Given the description of an element on the screen output the (x, y) to click on. 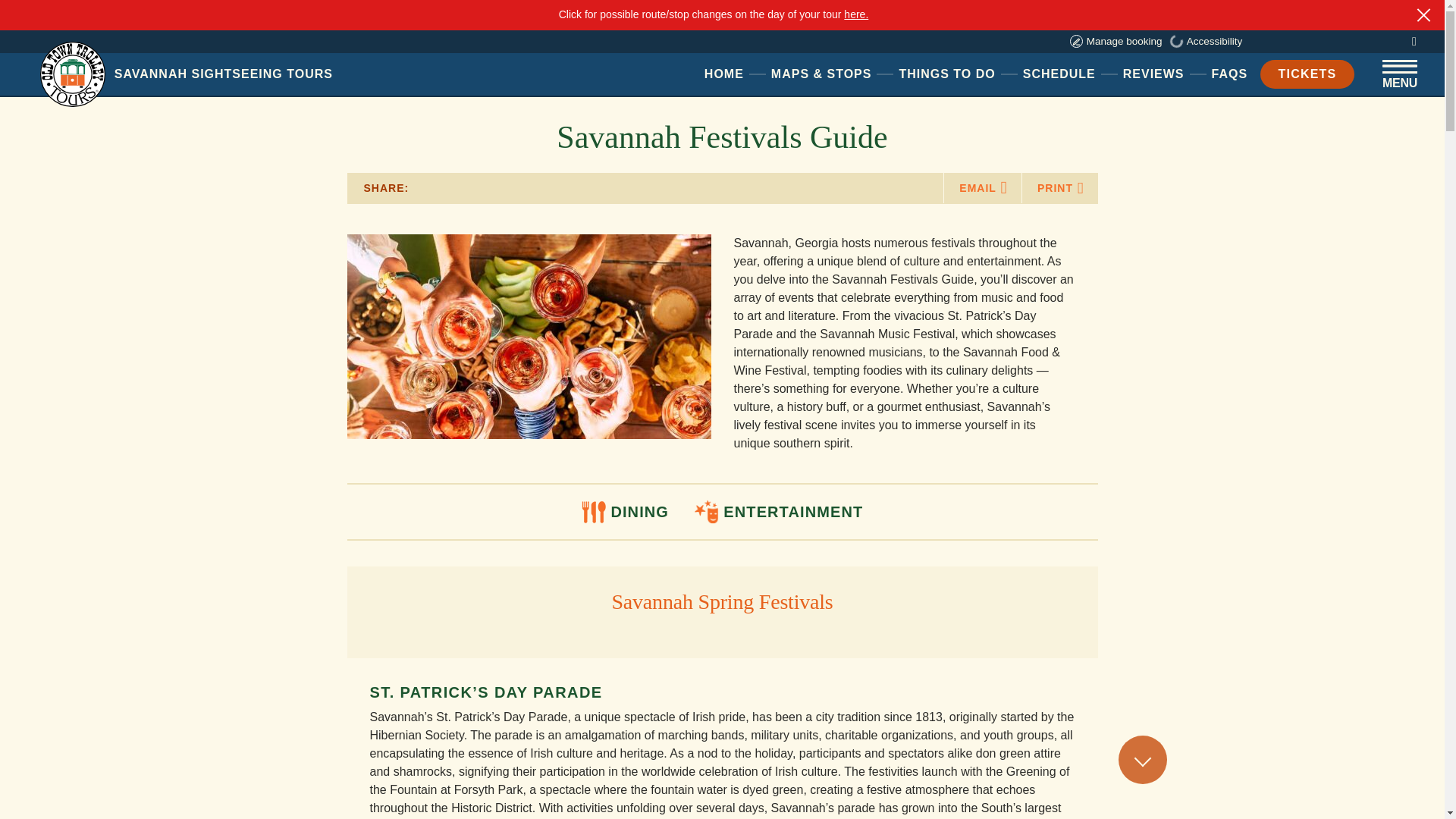
here. (855, 14)
Manage booking (1115, 41)
MENU (1153, 73)
TICKETS (724, 73)
